Given the description of an element on the screen output the (x, y) to click on. 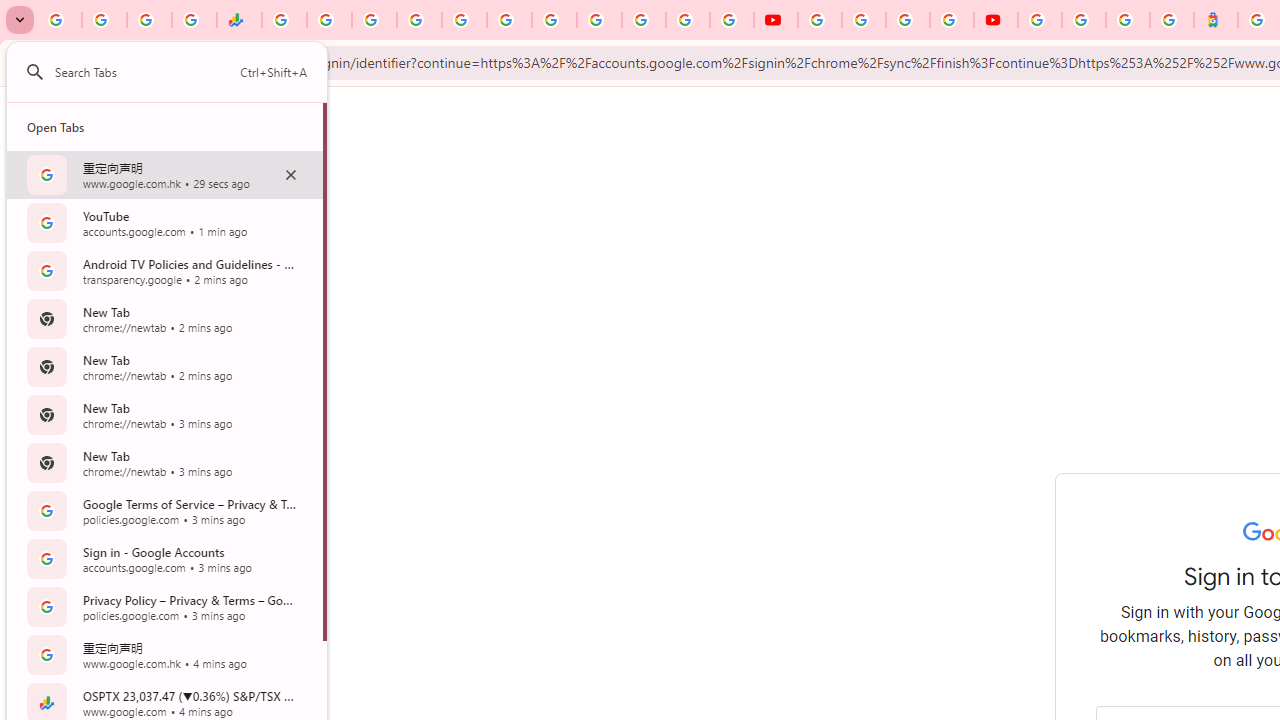
Privacy Checkup (731, 20)
Create your Google Account (907, 20)
New Tab newtab 2 mins ago Open Tab (164, 366)
Sign in - Google Accounts (643, 20)
Search Tabs Ctrl+Shift+A Found 60 Tabs (181, 71)
YouTube (599, 20)
YouTube (775, 20)
YouTube accounts.google.com 1 min ago Open Tab (164, 222)
Sign in - Google Accounts (1039, 20)
